Given the description of an element on the screen output the (x, y) to click on. 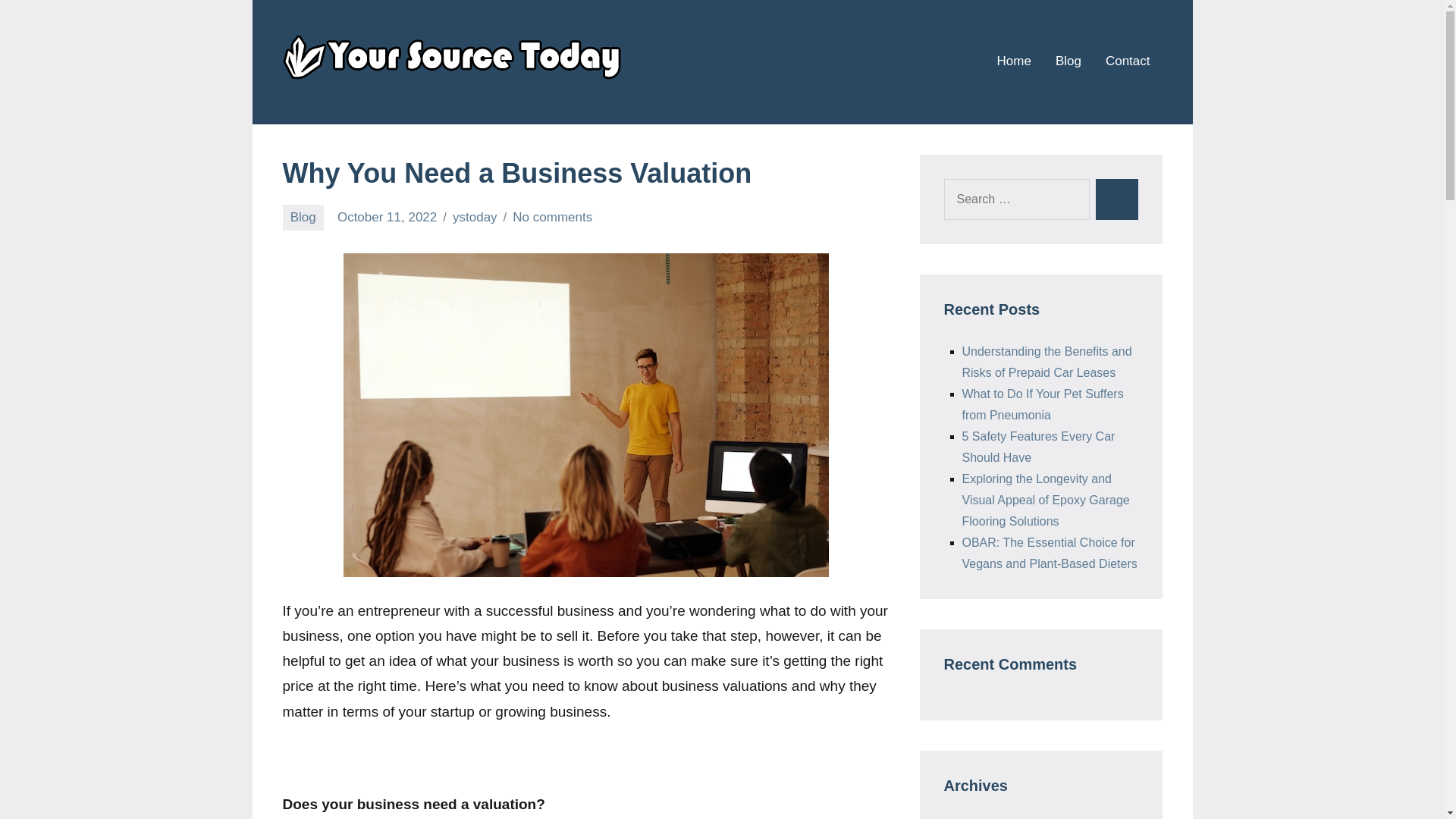
5 Safety Features Every Car Should Have (1037, 446)
Blog (1068, 61)
October 11, 2022 (386, 216)
Blog (302, 217)
Search (1115, 199)
No comments (552, 216)
Contact (1127, 61)
Home (1013, 61)
Understanding the Benefits and Risks of Prepaid Car Leases (1045, 361)
Search for: (1016, 199)
View all posts by ystoday (474, 216)
ystoday (474, 216)
What to Do If Your Pet Suffers from Pneumonia (1041, 404)
